Given the description of an element on the screen output the (x, y) to click on. 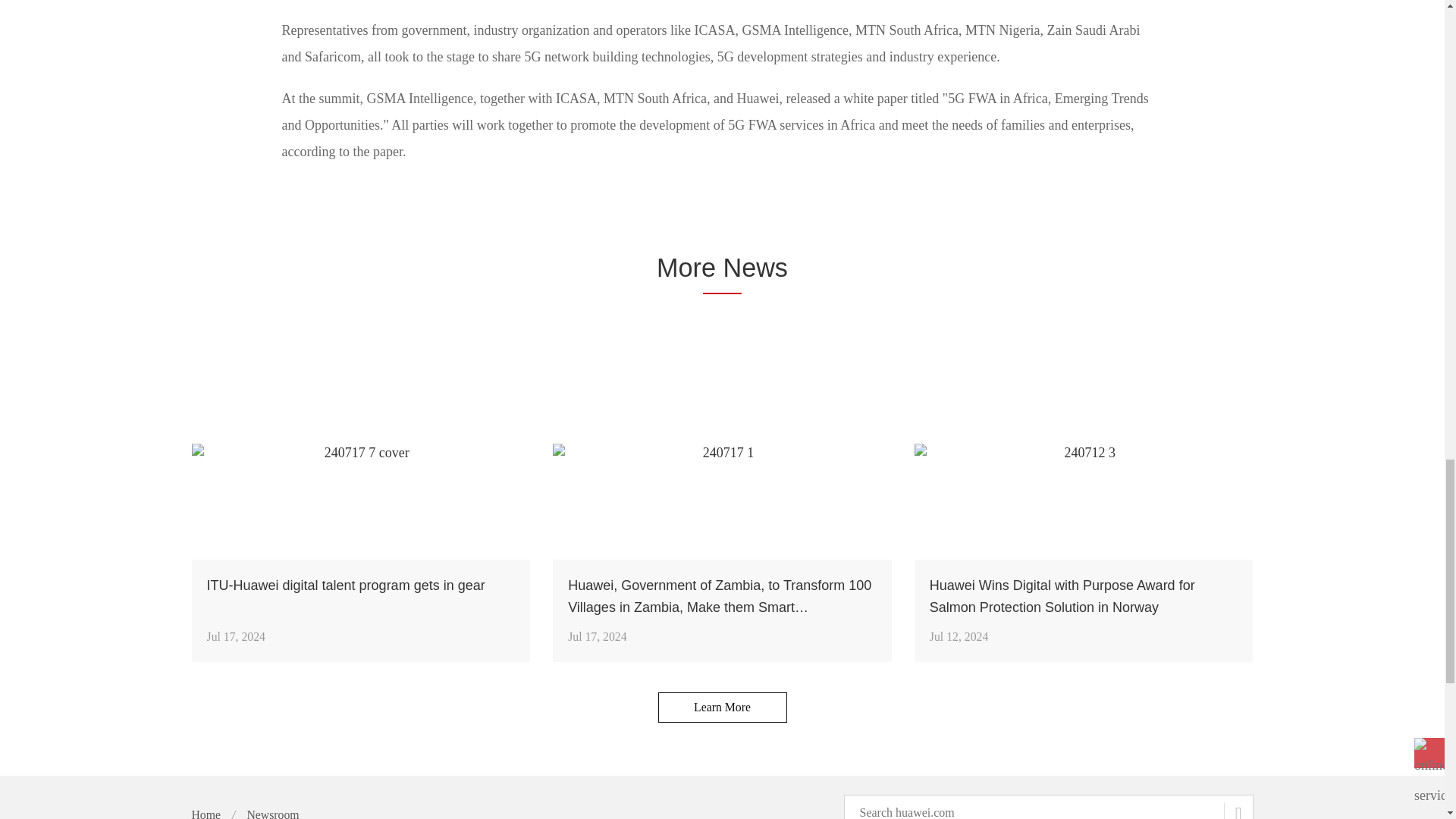
Learn More (722, 707)
